Given the description of an element on the screen output the (x, y) to click on. 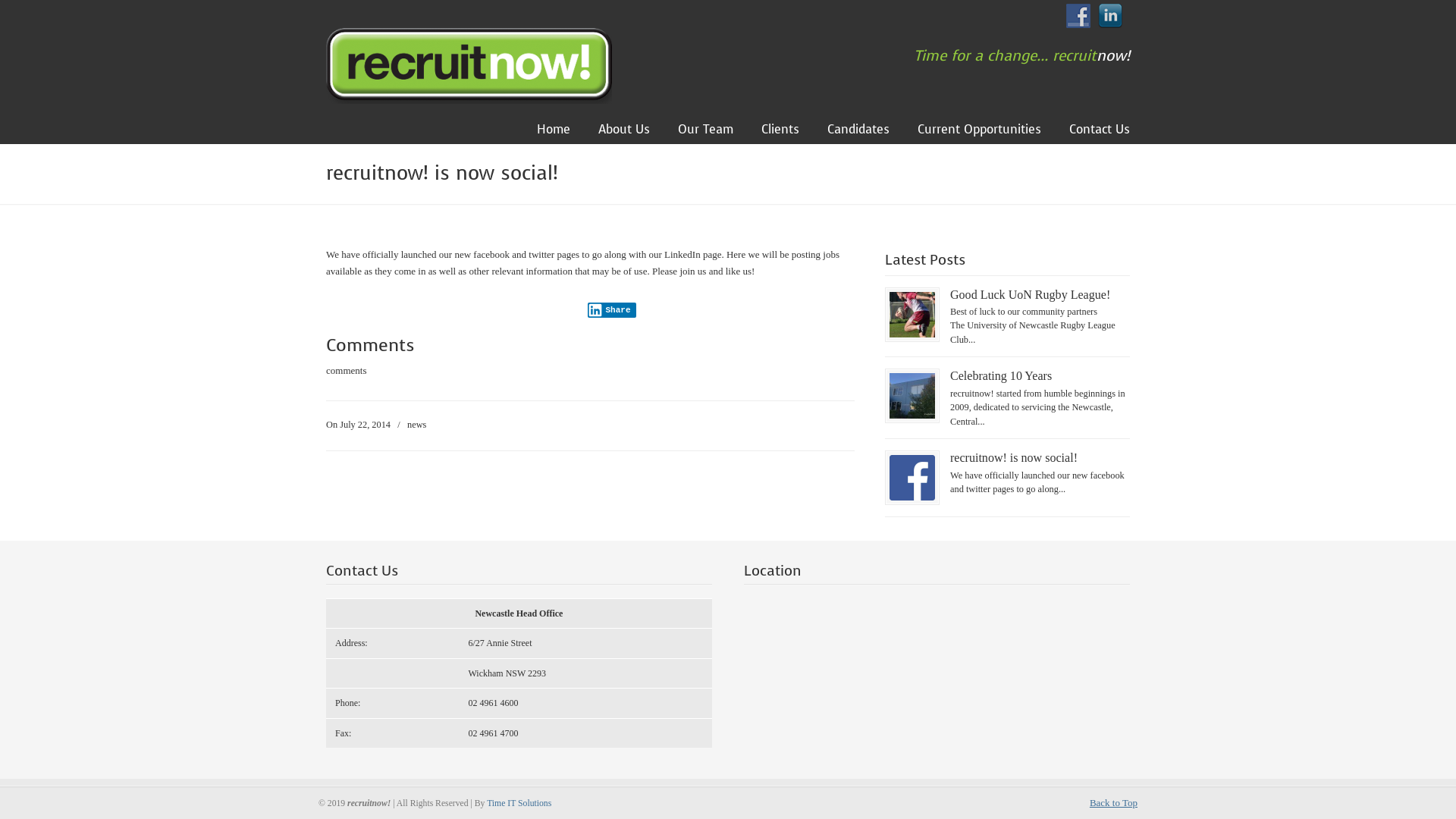
Good Luck UoN Rugby League! Element type: text (1030, 294)
Candidates Element type: text (858, 129)
Follow Us on LinkedIn Element type: hover (1110, 15)
news Element type: text (416, 425)
Our Team Element type: text (705, 129)
recruitnow! Element type: text (468, 63)
Home Element type: text (553, 129)
About Us Element type: text (624, 129)
Clients Element type: text (780, 129)
Good Luck UoN Rugby League! Element type: hover (912, 334)
Back to Top Element type: text (1113, 802)
Celebrating 10 Years Element type: hover (912, 415)
Celebrating 10 Years Element type: text (1000, 375)
Contact Us Element type: text (1099, 129)
Follow Us on Facebook Element type: hover (1078, 15)
Time IT Solutions Element type: text (518, 803)
Share Element type: text (611, 309)
Current Opportunities Element type: text (979, 129)
recruitnow! is now social! Element type: text (1013, 457)
recruitnow! is now social! Element type: hover (912, 497)
  Element type: text (490, 310)
